Given the description of an element on the screen output the (x, y) to click on. 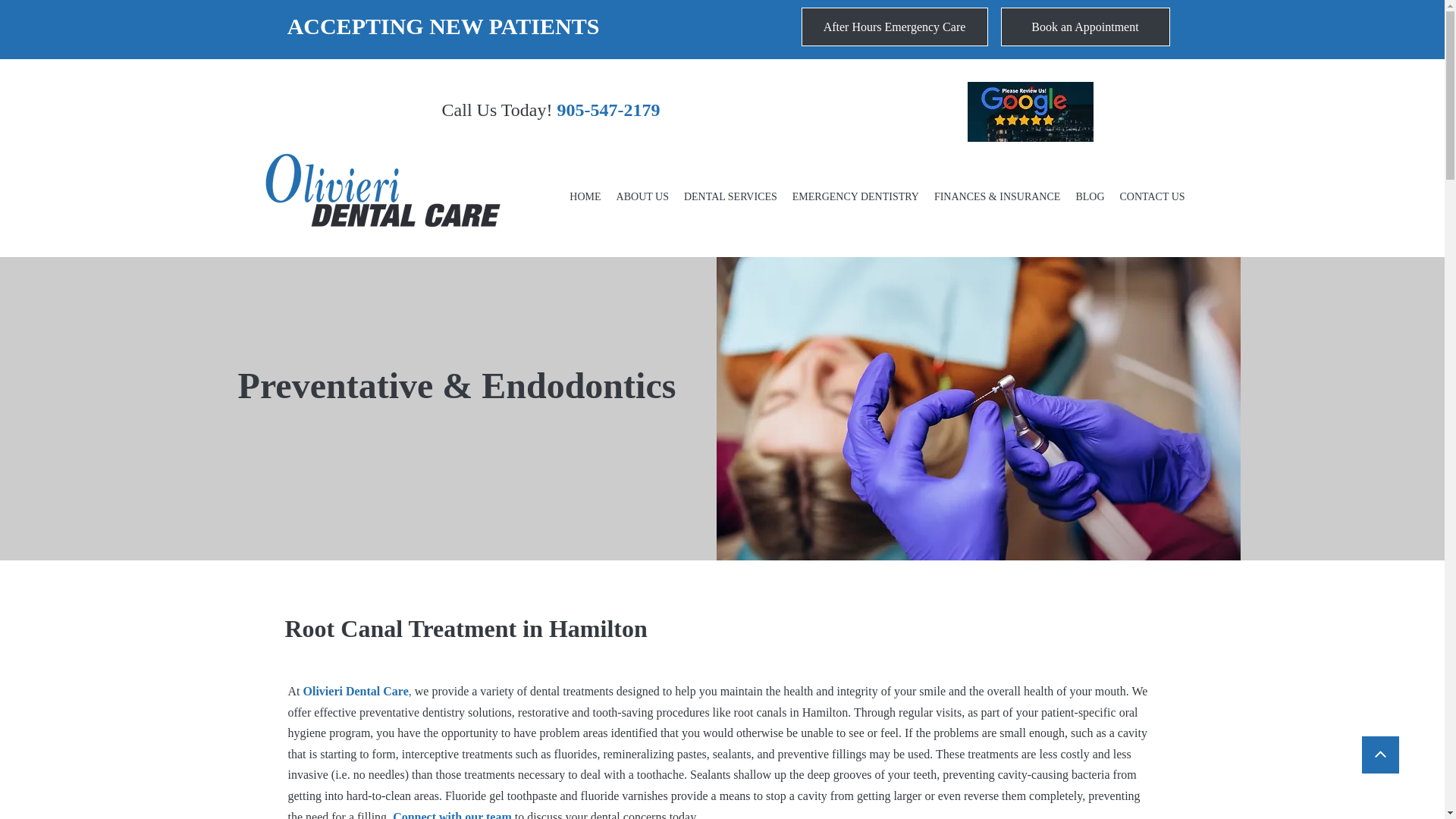
EMERGENCY DENTISTRY (855, 197)
Connect with our team (451, 814)
BLOG (1089, 197)
After Hours Emergency Care (893, 26)
Olivieri Dental Care (355, 690)
HOME (584, 197)
905-547-2179 (605, 109)
Book an Appointment (1085, 26)
CONTACT US (1152, 197)
DENTAL SERVICES (730, 197)
